Given the description of an element on the screen output the (x, y) to click on. 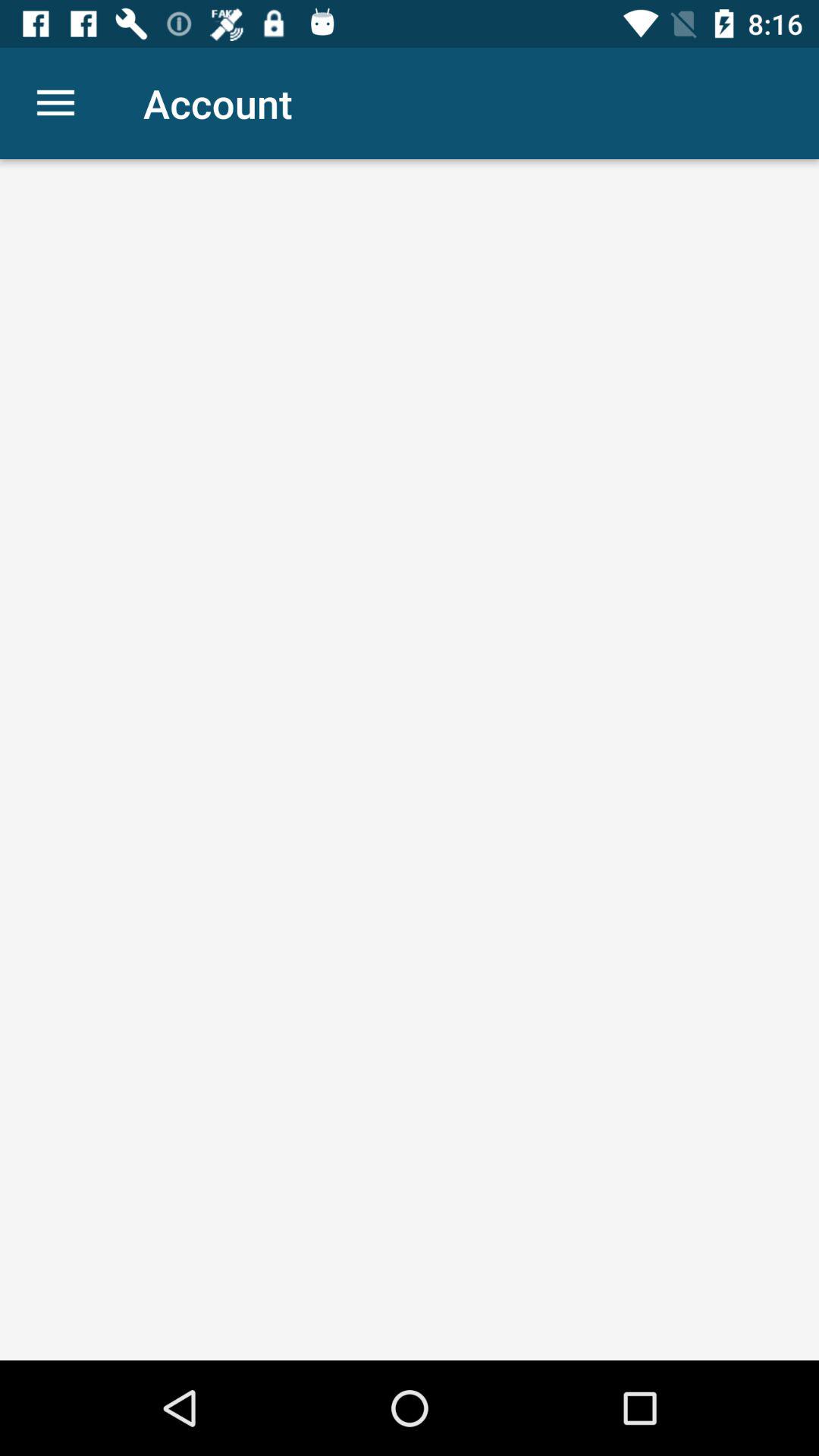
press the icon to the left of account icon (55, 103)
